Given the description of an element on the screen output the (x, y) to click on. 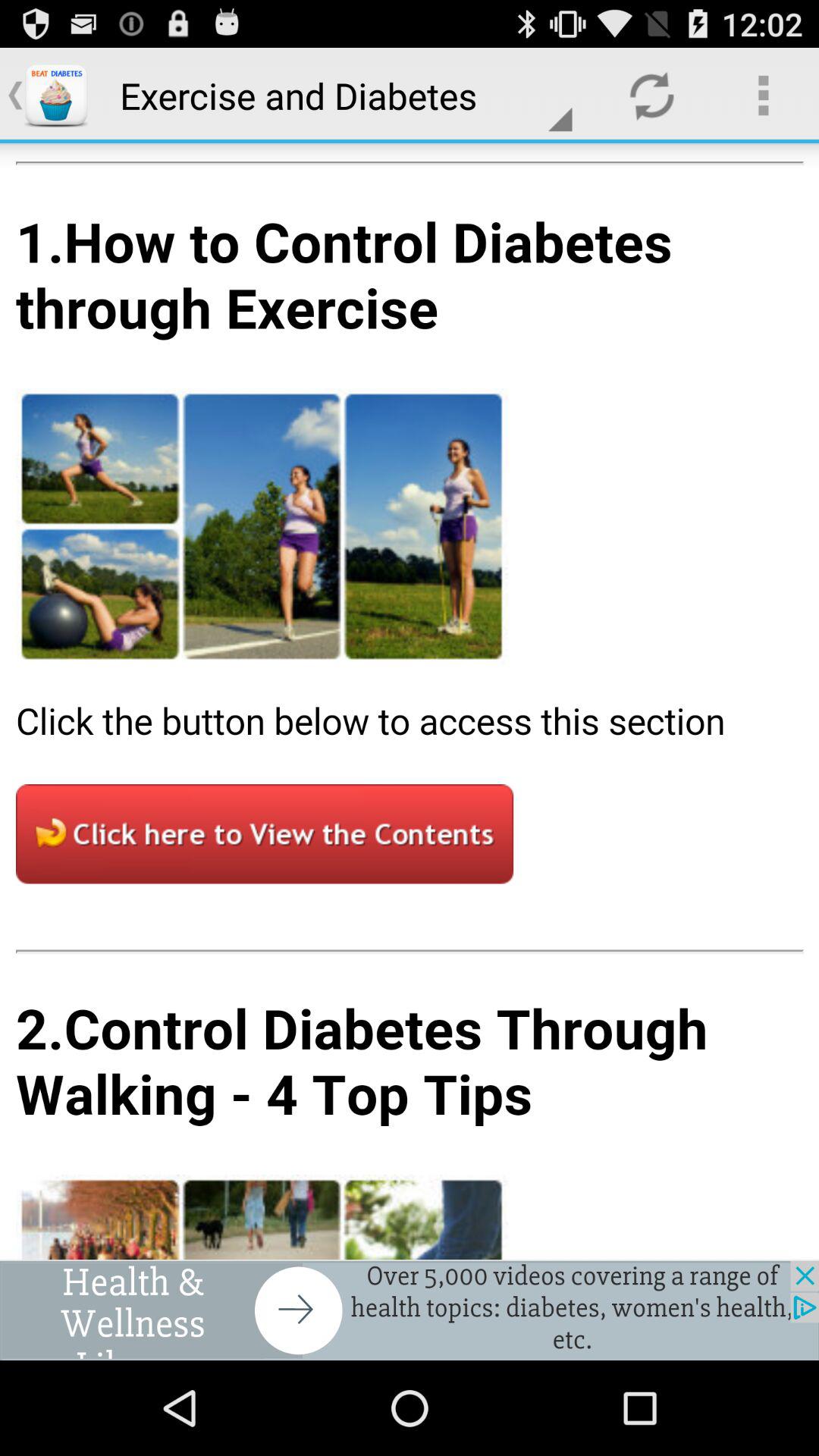
advertisement banner would take off site (409, 1310)
